Given the description of an element on the screen output the (x, y) to click on. 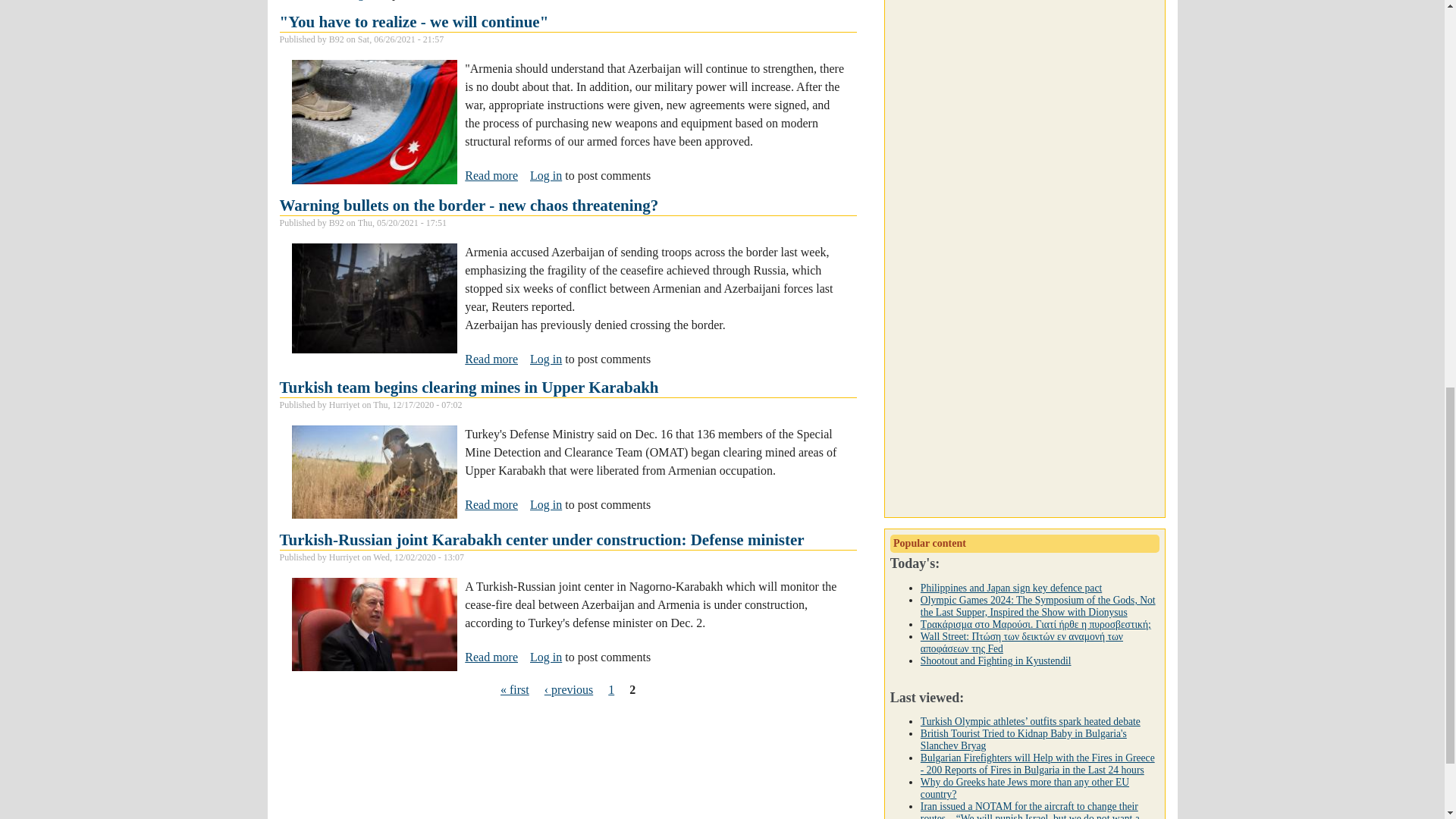
Log in (545, 174)
Log in (545, 358)
"You have to realize - we will continue" (491, 175)
Warning bullets on the border - new chaos threatening? (413, 22)
Turkish team begins clearing mines in Upper Karabakh (468, 205)
